Given the description of an element on the screen output the (x, y) to click on. 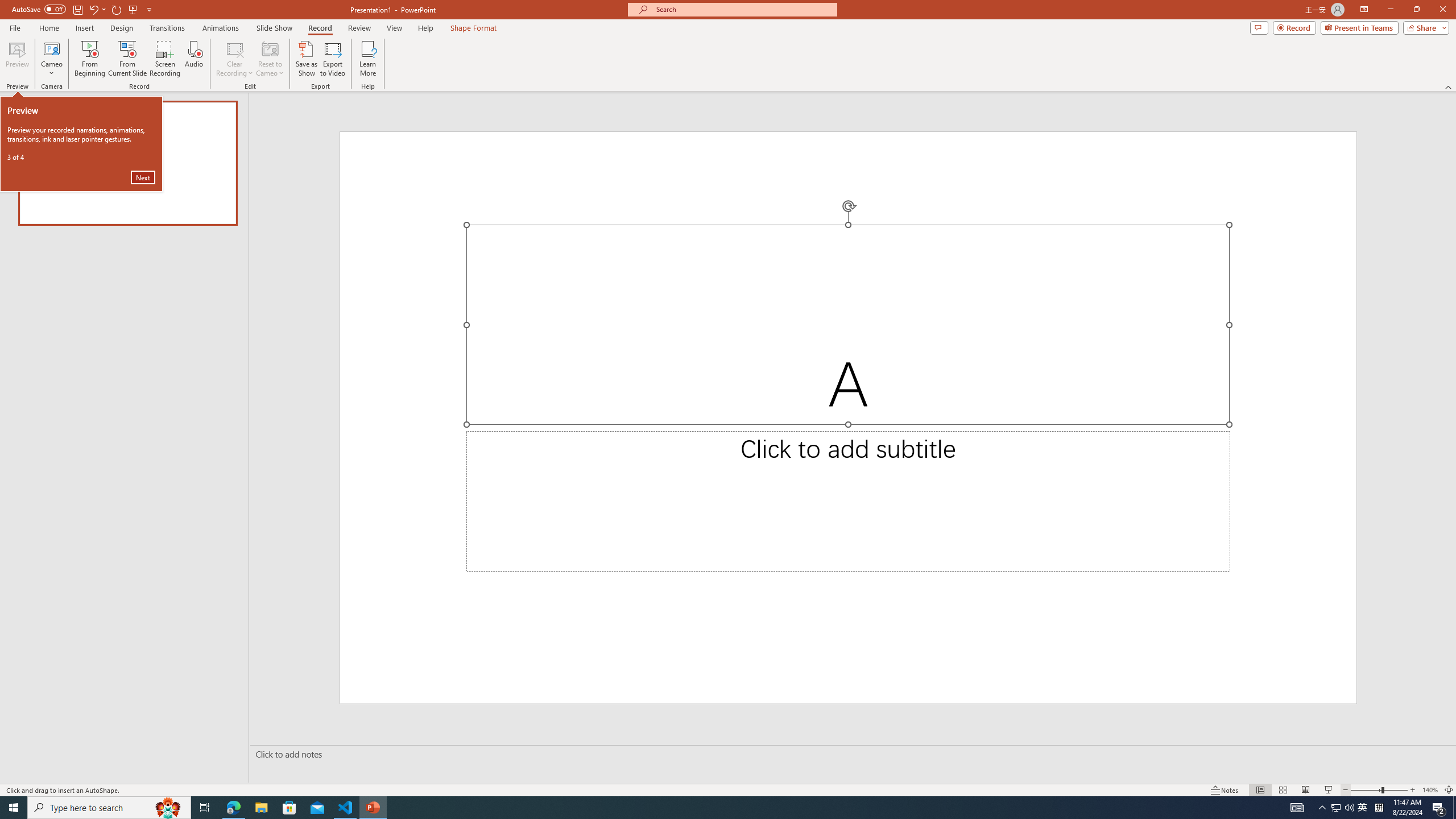
Save as Show (306, 58)
Next (143, 177)
From Current Slide... (127, 58)
